Given the description of an element on the screen output the (x, y) to click on. 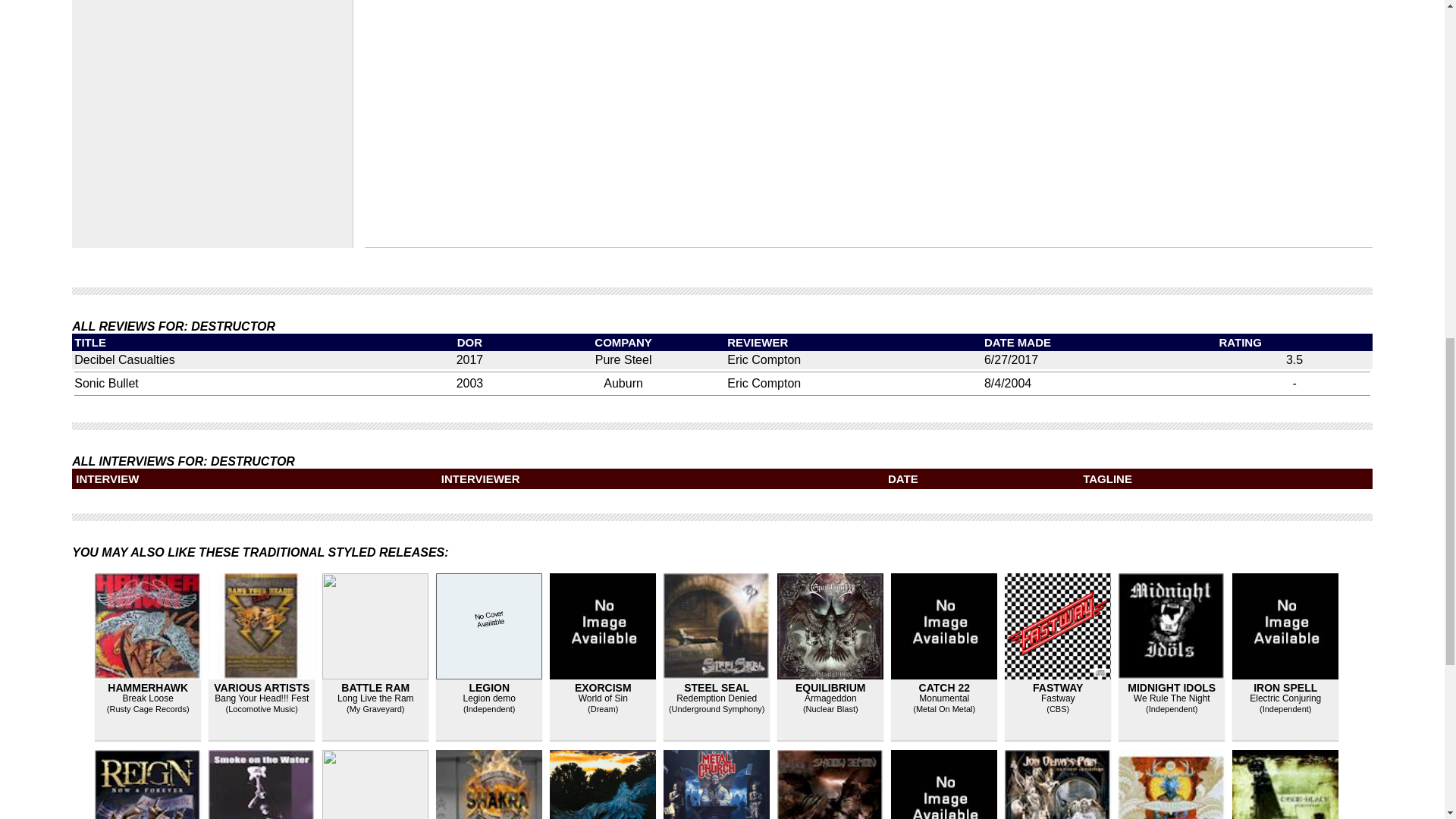
CATCH 22 (943, 687)
FASTWAY (1057, 687)
Decibel Casualties (124, 359)
Long Live the Ram (375, 697)
Armageddon (831, 697)
VARIOUS ARTISTS (261, 687)
EQUILIBRIUM (830, 687)
World of Sin (602, 697)
Redemption Denied (717, 697)
Monumental (943, 697)
BATTLE RAM (374, 687)
LEGION (488, 687)
Legion demo (489, 697)
STEEL SEAL (716, 687)
Fastway (1058, 697)
